Given the description of an element on the screen output the (x, y) to click on. 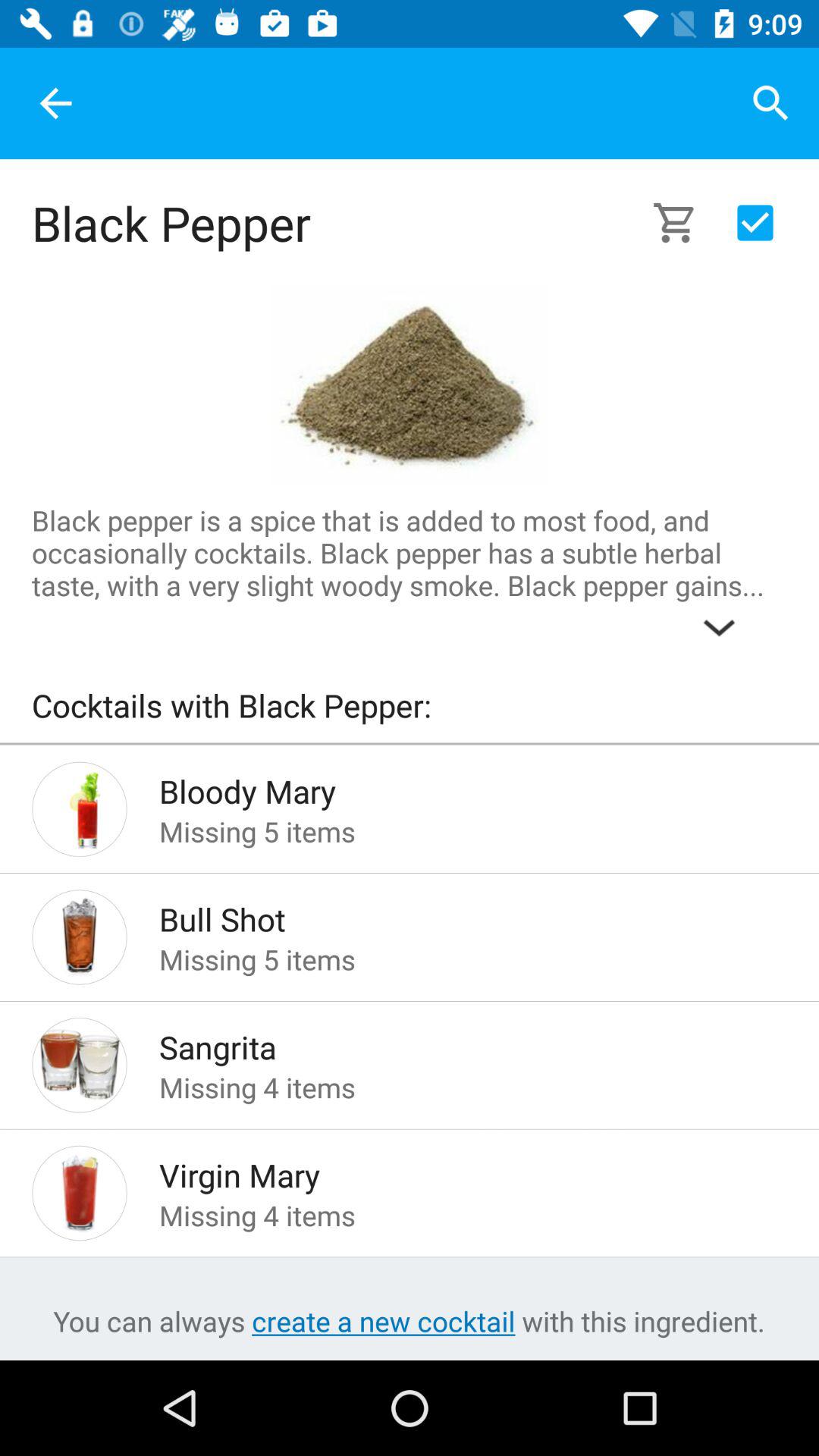
shopping image (683, 222)
